Given the description of an element on the screen output the (x, y) to click on. 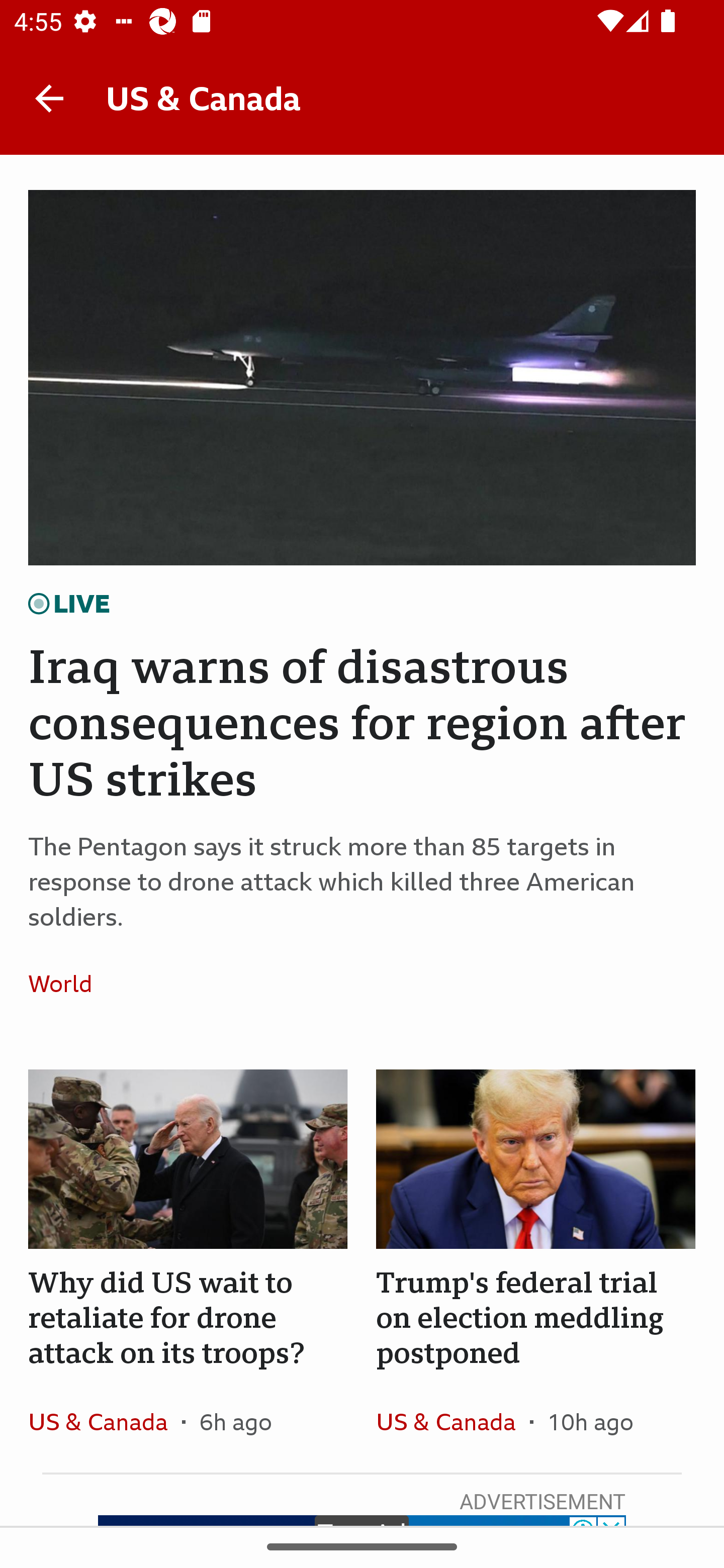
Back (49, 97)
World In the section World (67, 983)
US & Canada In the section US & Canada (104, 1421)
US & Canada In the section US & Canada (452, 1421)
